Given the description of an element on the screen output the (x, y) to click on. 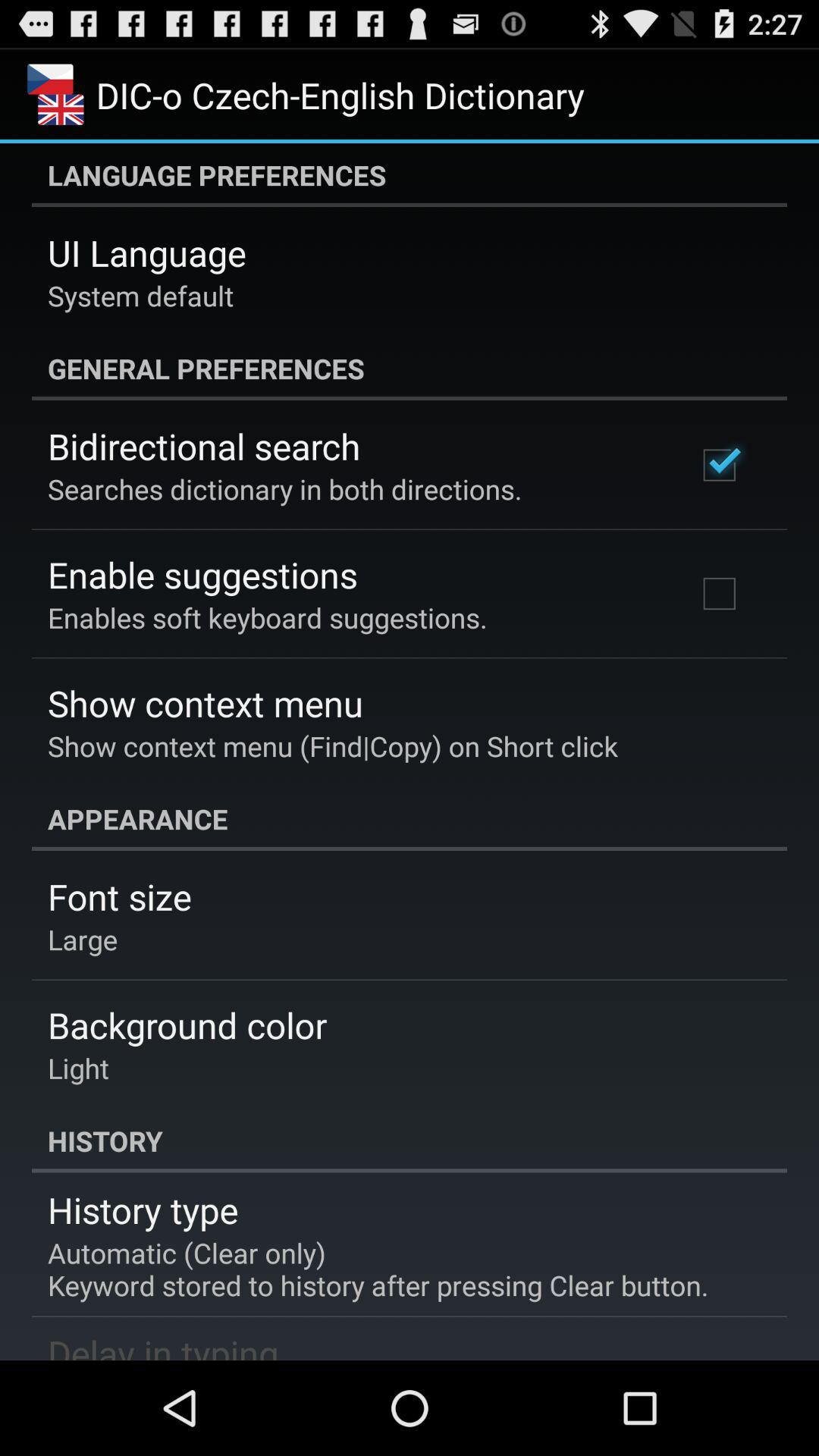
flip to the system default item (140, 295)
